Given the description of an element on the screen output the (x, y) to click on. 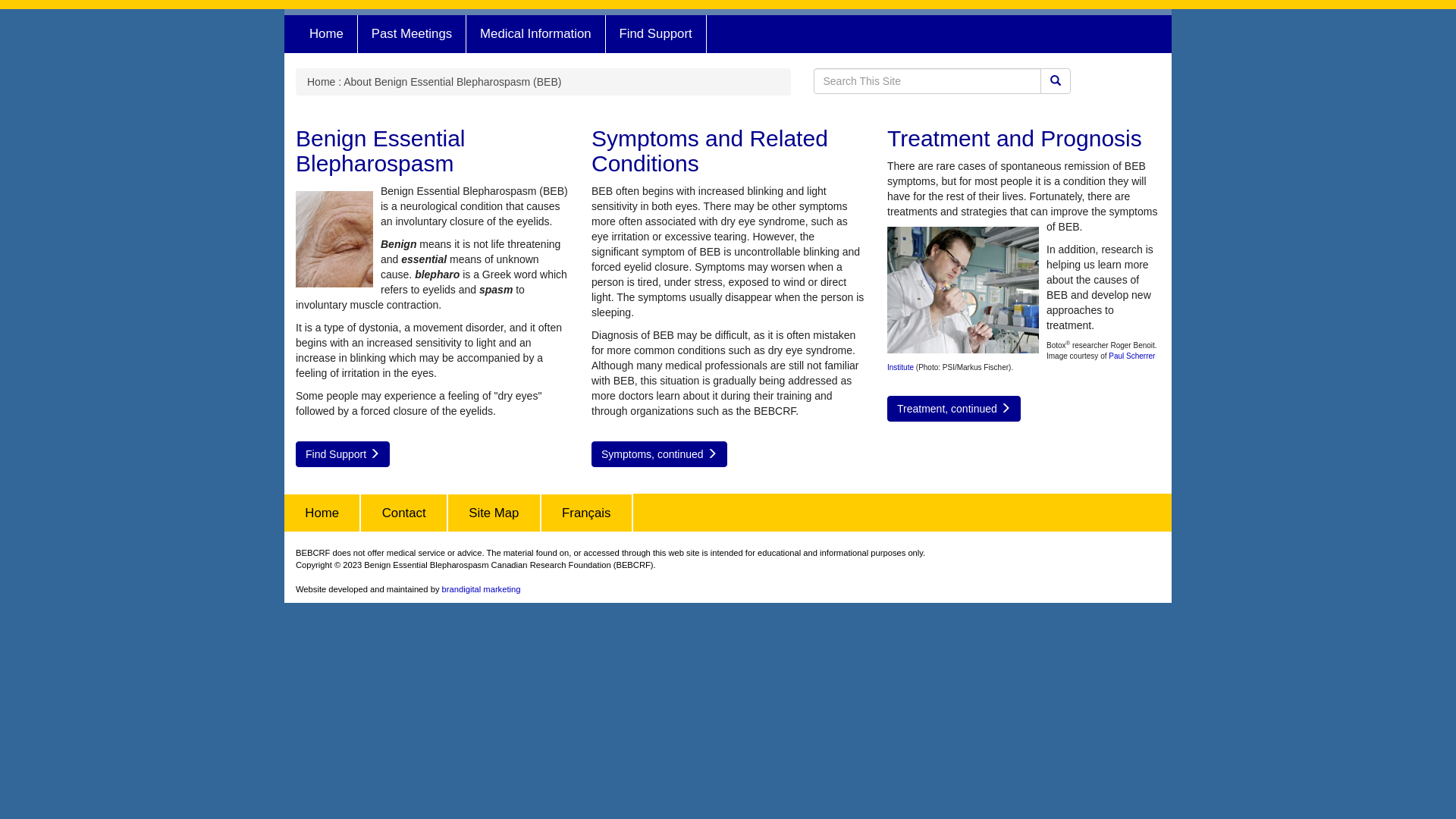
Find Support Element type: text (655, 34)
Treatment, continued Element type: text (953, 408)
brandigital marketing Element type: text (481, 588)
Past Meetings Element type: text (411, 34)
  Site Map   Element type: text (494, 513)
Symptoms, continued Element type: text (659, 454)
  Contact   Element type: text (403, 513)
Find Support Element type: text (342, 454)
  Home   Element type: text (322, 513)
Medical Information Element type: text (535, 34)
Home Element type: text (326, 34)
Paul Scherrer Institute Element type: text (1020, 360)
